Given the description of an element on the screen output the (x, y) to click on. 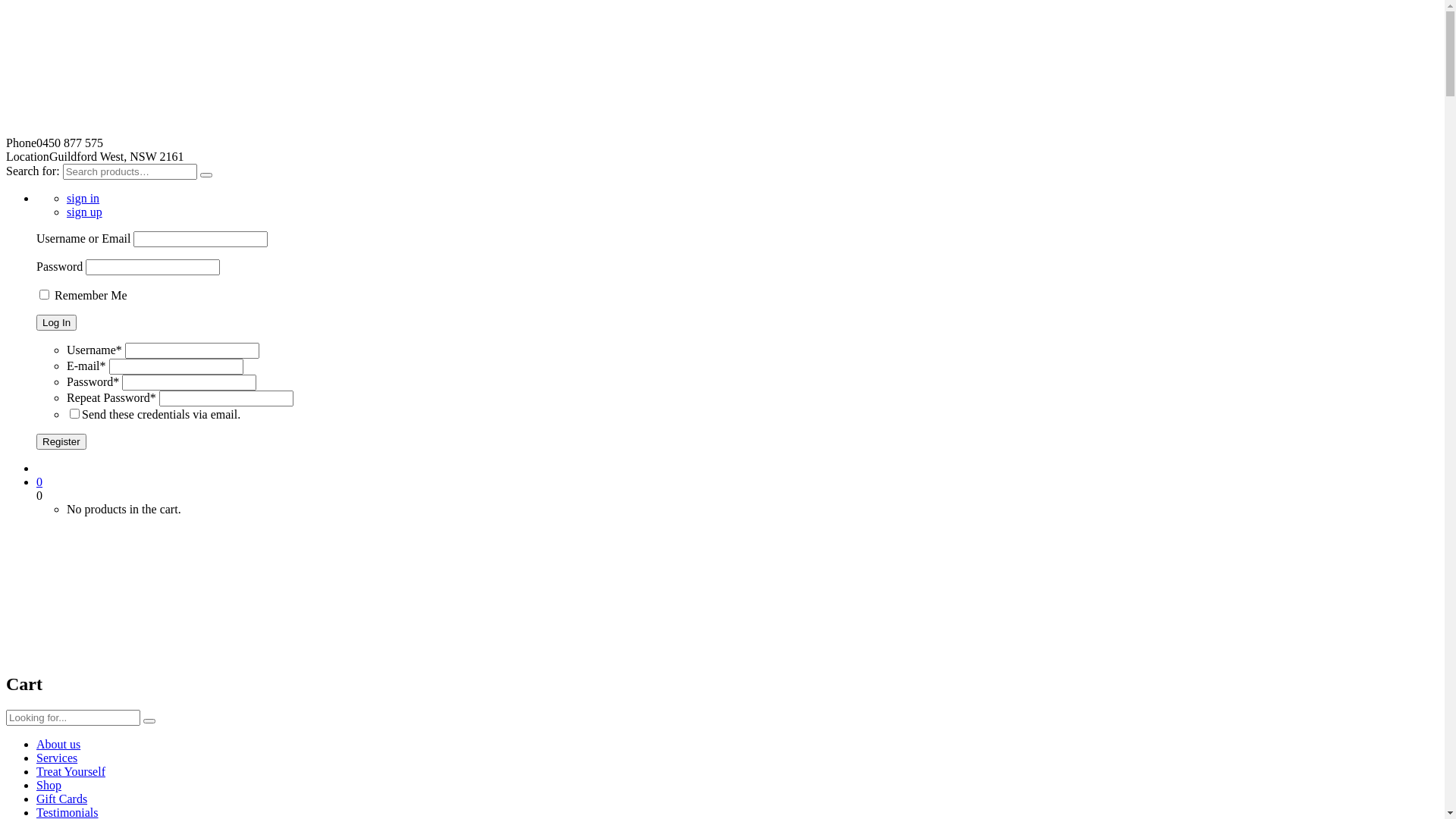
sign in Element type: text (82, 197)
Register Element type: text (61, 441)
Shop Element type: text (48, 784)
0 Element type: text (737, 482)
About us Element type: text (58, 743)
Services Element type: text (56, 757)
Gift Cards Element type: text (61, 798)
sign up Element type: text (84, 211)
Log In Element type: text (56, 322)
Treat Yourself Element type: text (70, 771)
